Given the description of an element on the screen output the (x, y) to click on. 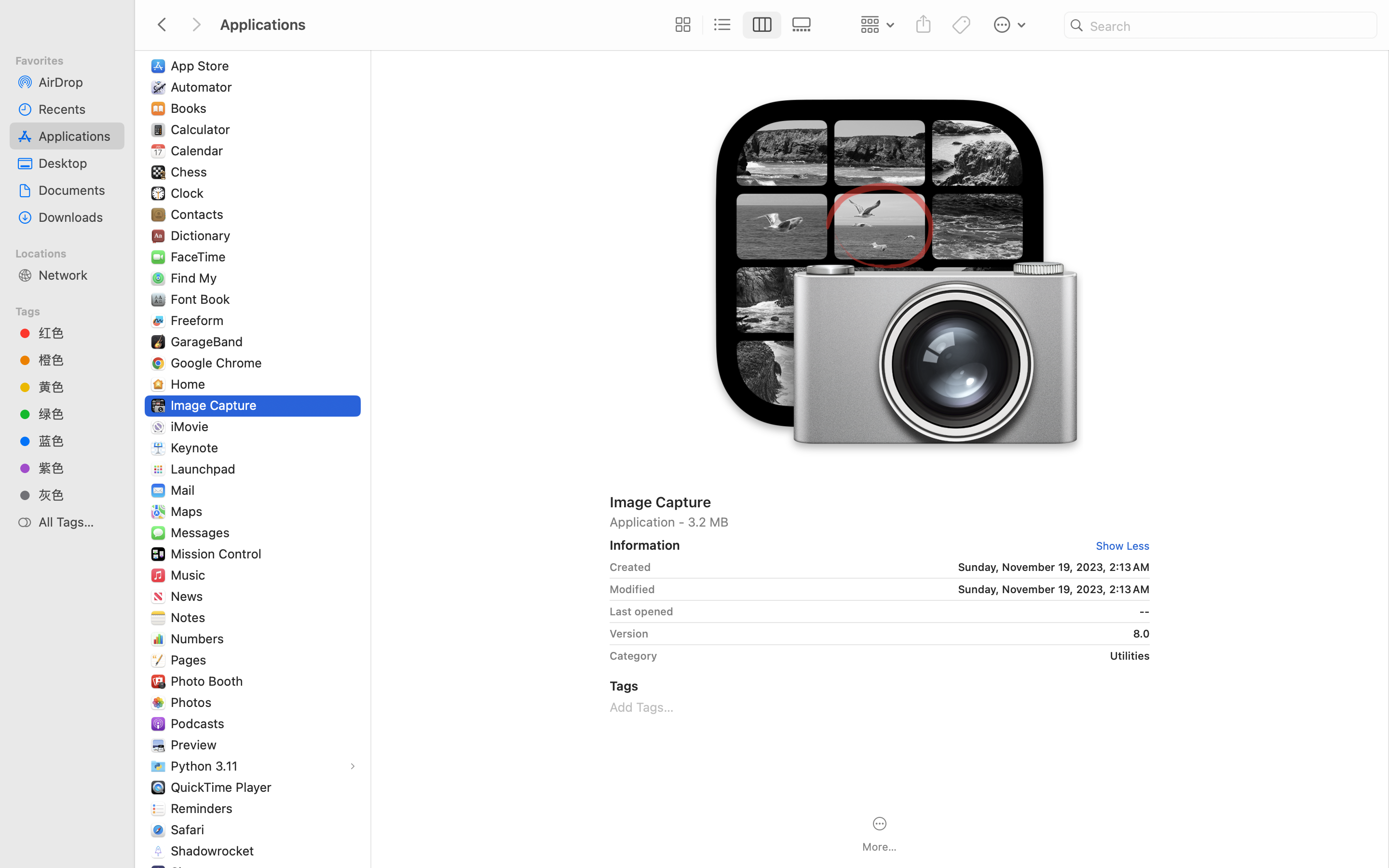
Modified Element type: AXStaticText (631, 589)
QuickTime Player Element type: AXTextField (222, 786)
Photos Element type: AXTextField (192, 701)
Applications Element type: AXStaticText (437, 827)
Network Element type: AXStaticText (77, 274)
